Given the description of an element on the screen output the (x, y) to click on. 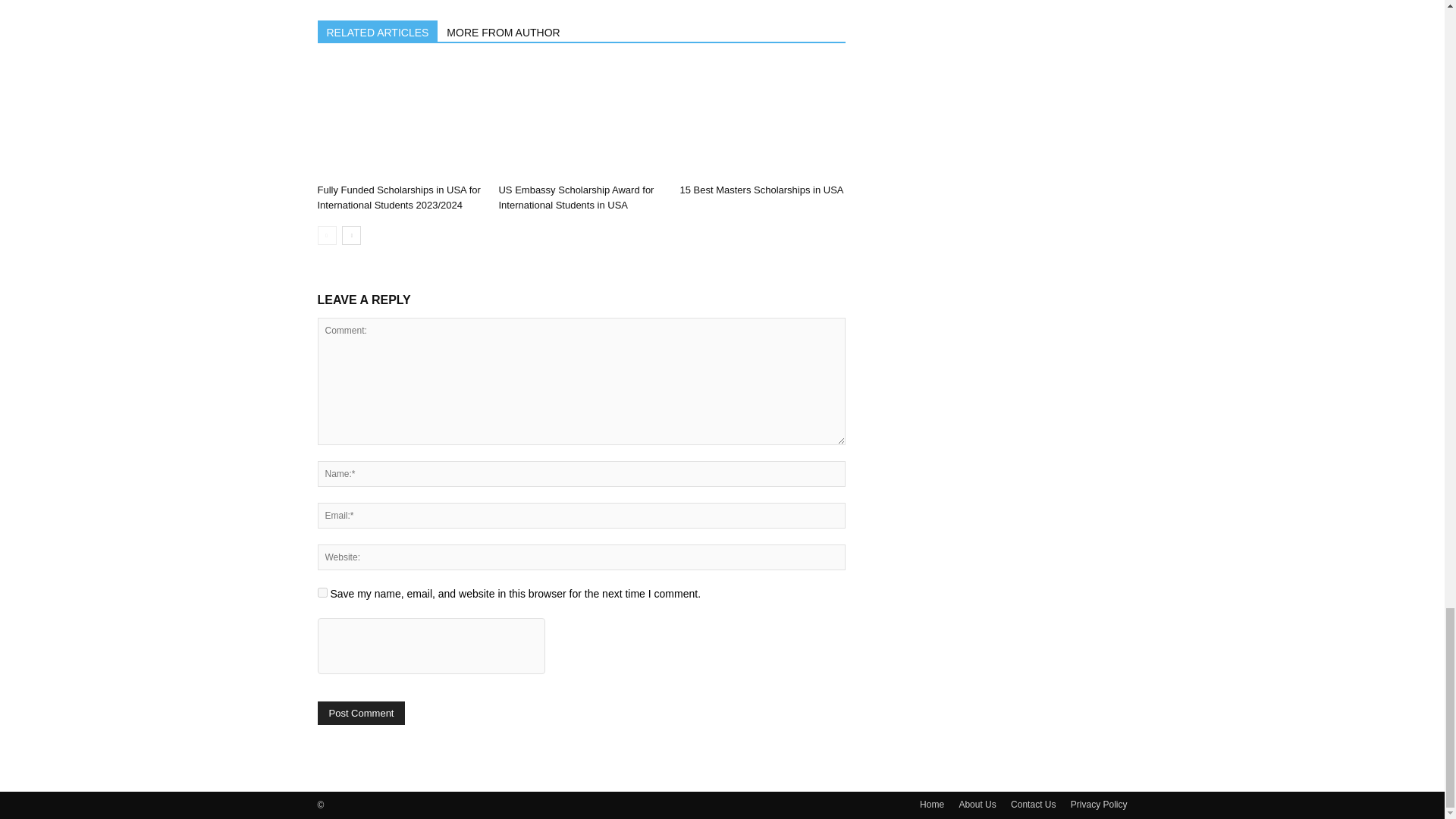
15 Best Masters Scholarships in USA (761, 120)
15 Best Masters Scholarships in USA (761, 189)
RELATED ARTICLES (377, 30)
Post Comment (360, 712)
yes (321, 592)
